Given the description of an element on the screen output the (x, y) to click on. 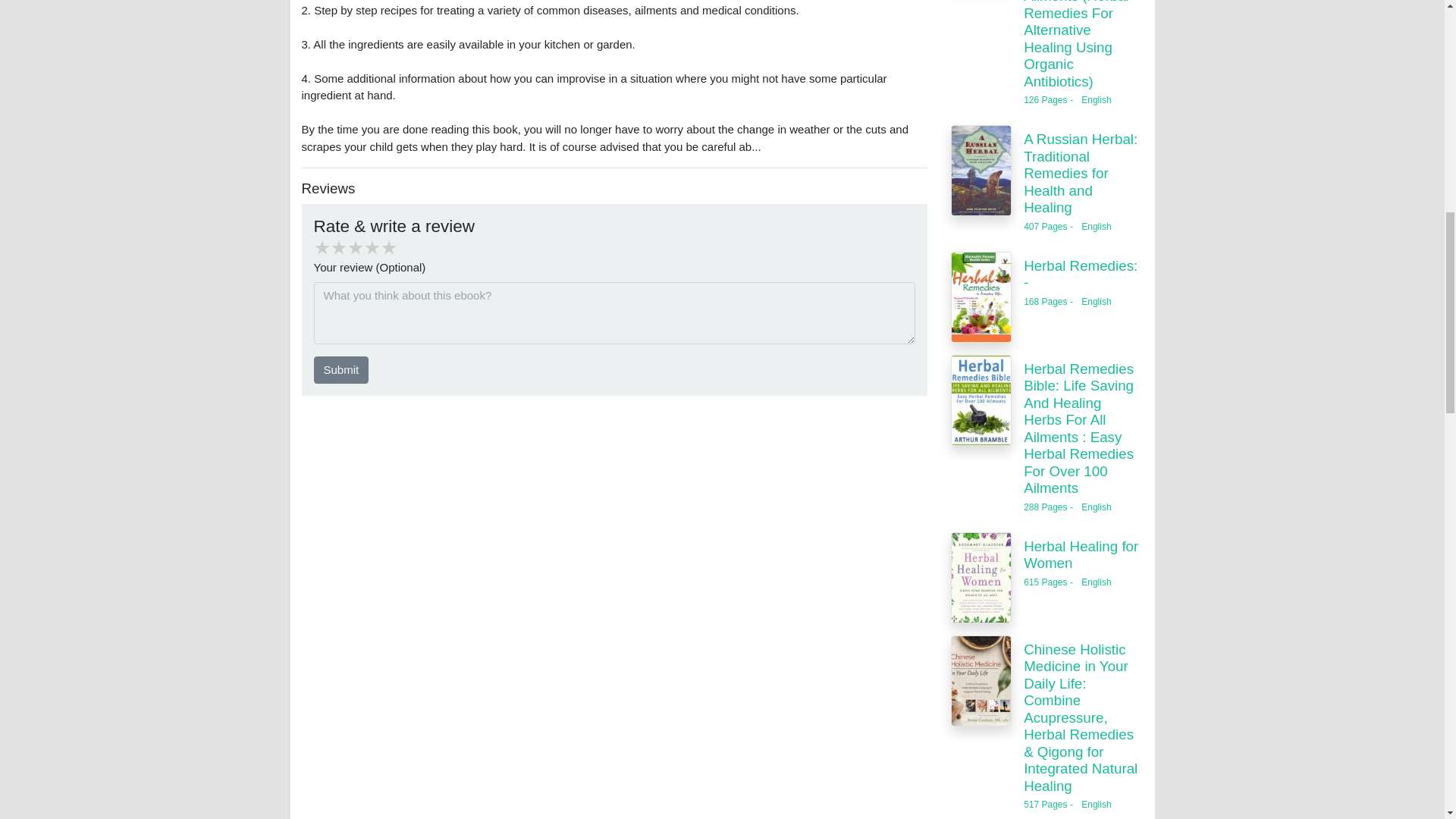
Submit (341, 370)
Herbal Healing for Women (1080, 554)
Herbal Remedies: - (1080, 274)
